Given the description of an element on the screen output the (x, y) to click on. 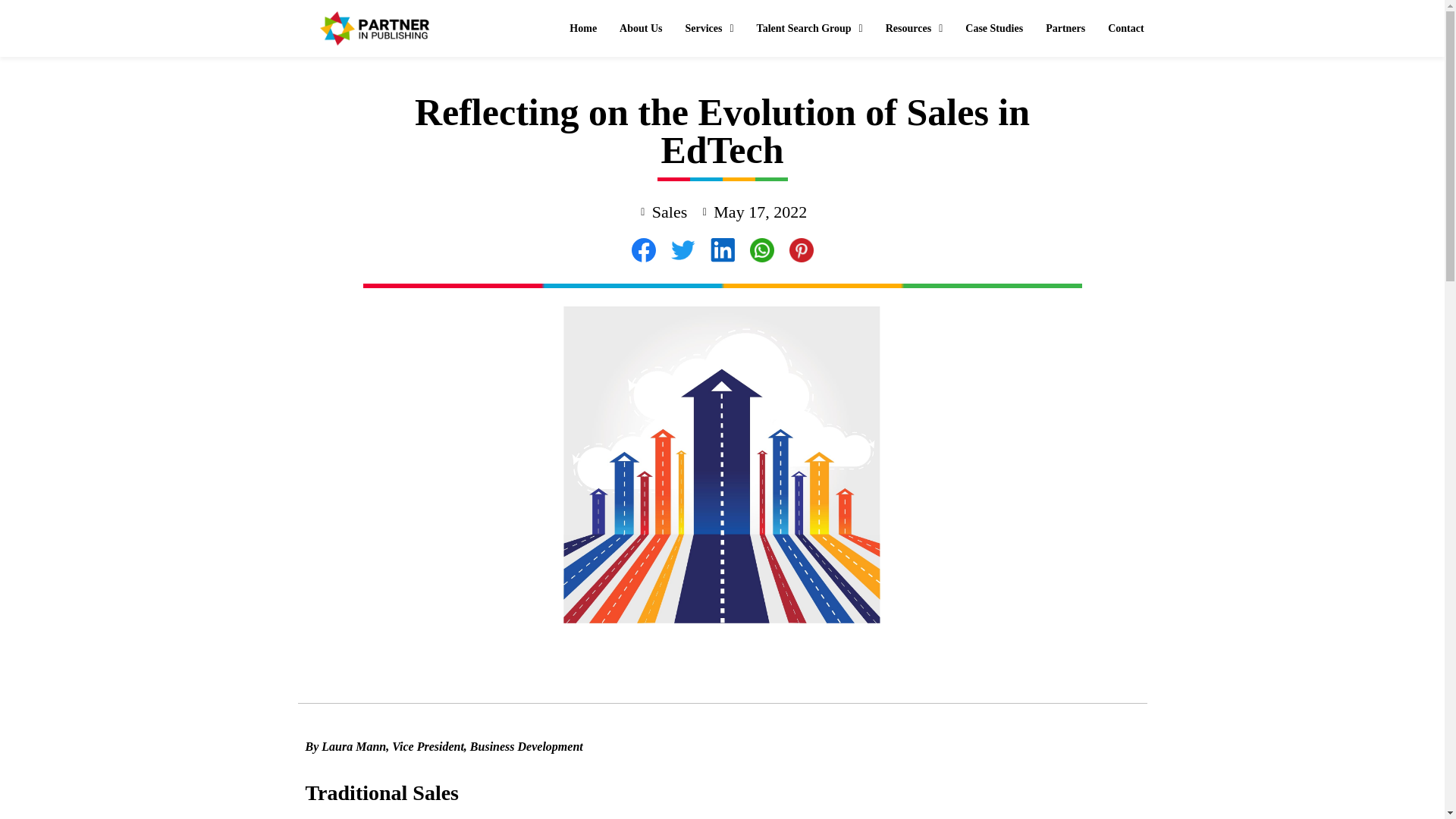
Contact (1125, 28)
Partners (1064, 28)
About Us (641, 28)
Resources (914, 28)
Talent Search Group (810, 28)
Case Studies (994, 28)
Services (709, 28)
